Given the description of an element on the screen output the (x, y) to click on. 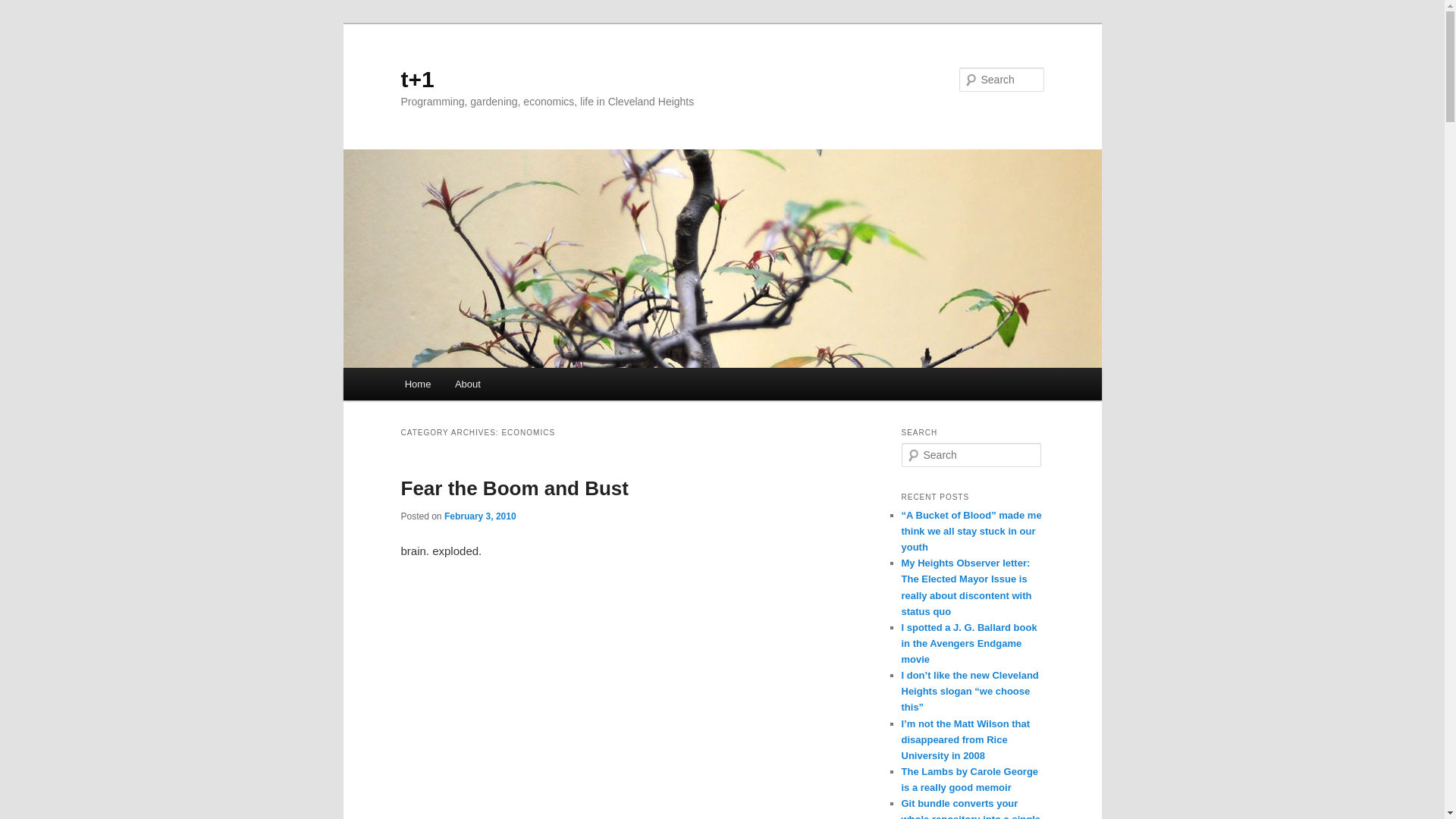
Fear the Boom and Bust (513, 487)
Skip to primary content (472, 386)
Skip to secondary content (479, 386)
Skip to secondary content (479, 386)
Home (417, 383)
Search (24, 8)
9:35 pm (480, 516)
Permalink to Fear the Boom and Bust (513, 487)
February 3, 2010 (480, 516)
About (467, 383)
Skip to primary content (472, 386)
